Given the description of an element on the screen output the (x, y) to click on. 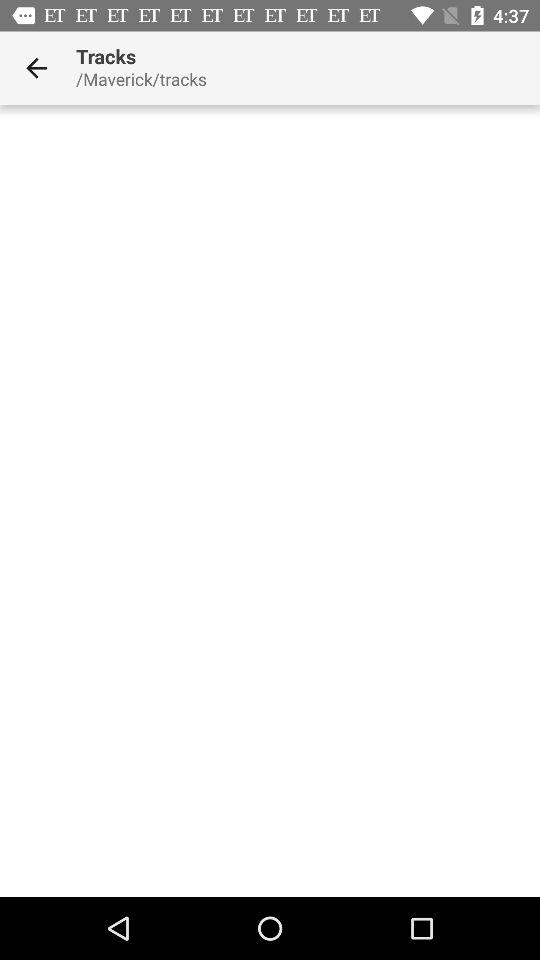
select the icon to the left of the tracks icon (36, 68)
